Given the description of an element on the screen output the (x, y) to click on. 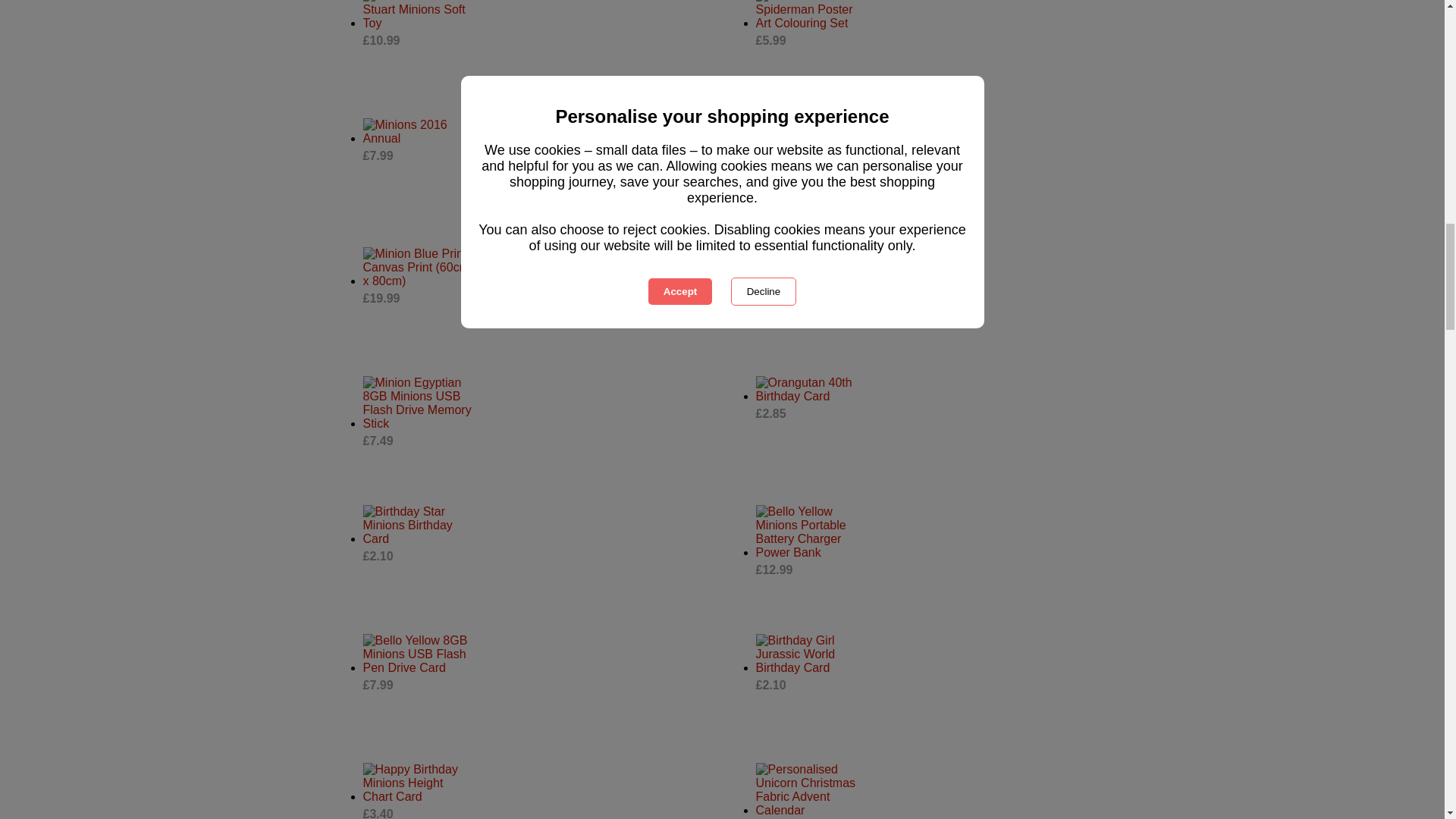
Birthday Star Minions Birthday Card (416, 525)
14cm Minion Stuart Minions Soft Toy (416, 15)
Minion Egyptian 8GB Minions USB Flash Drive Memory Stick (416, 402)
Minions 2016 Annual (416, 131)
Happy Birthday Minions Height Chart Card (416, 782)
Bello Yellow 8GB Minions USB Flash Pen Drive Card (416, 653)
